Given the description of an element on the screen output the (x, y) to click on. 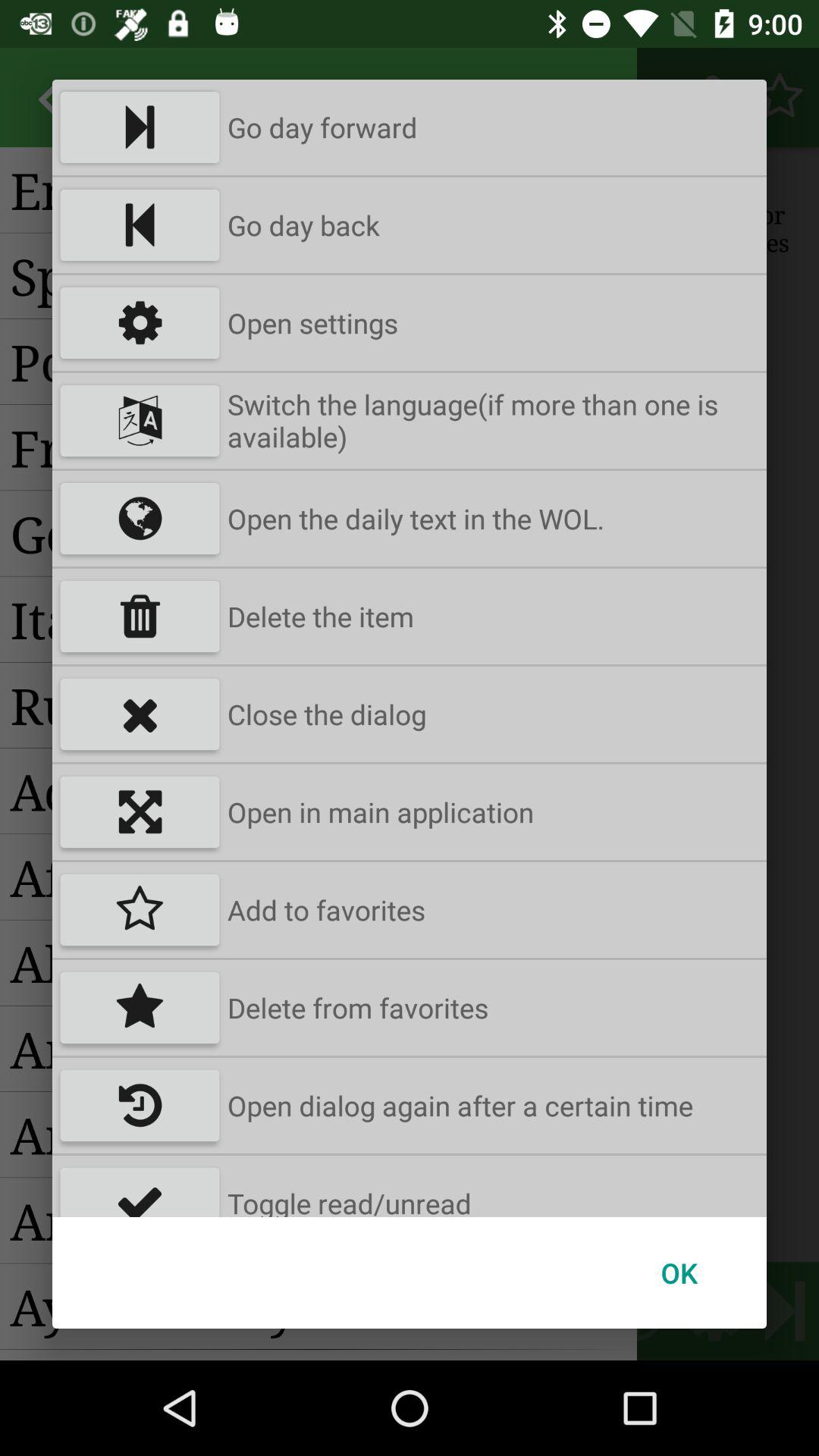
scroll to the add to favorites icon (326, 909)
